Given the description of an element on the screen output the (x, y) to click on. 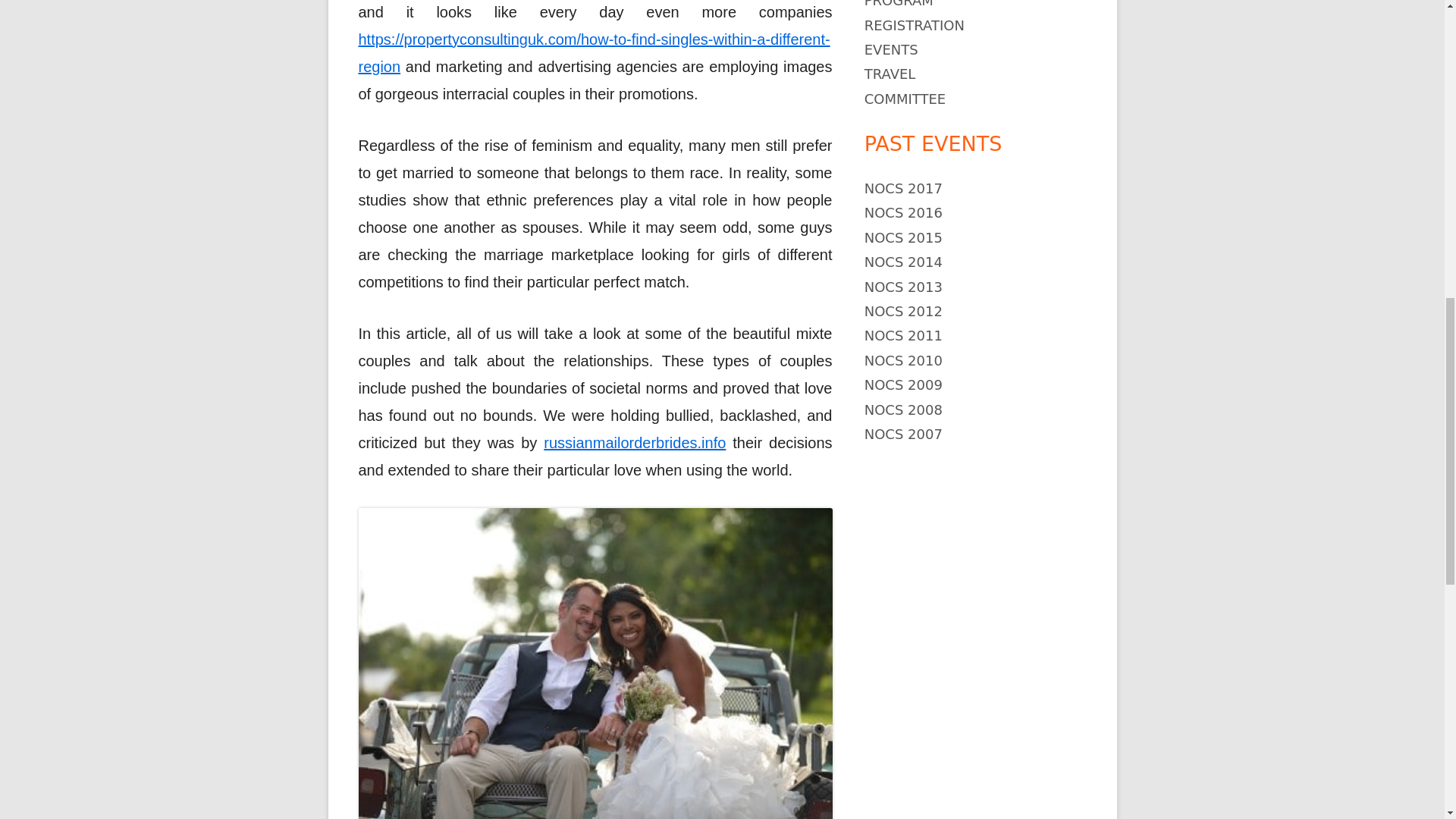
NOCS 2012 (903, 311)
NOCS 2015 (903, 237)
NOCS 2013 (903, 286)
COMMITTEE (905, 98)
NOCS 2014 (903, 261)
NOCS 2009 (903, 384)
EVENTS (891, 49)
NOCS 2010 (903, 360)
REGISTRATION (913, 25)
NOCS 2011 (903, 335)
